Given the description of an element on the screen output the (x, y) to click on. 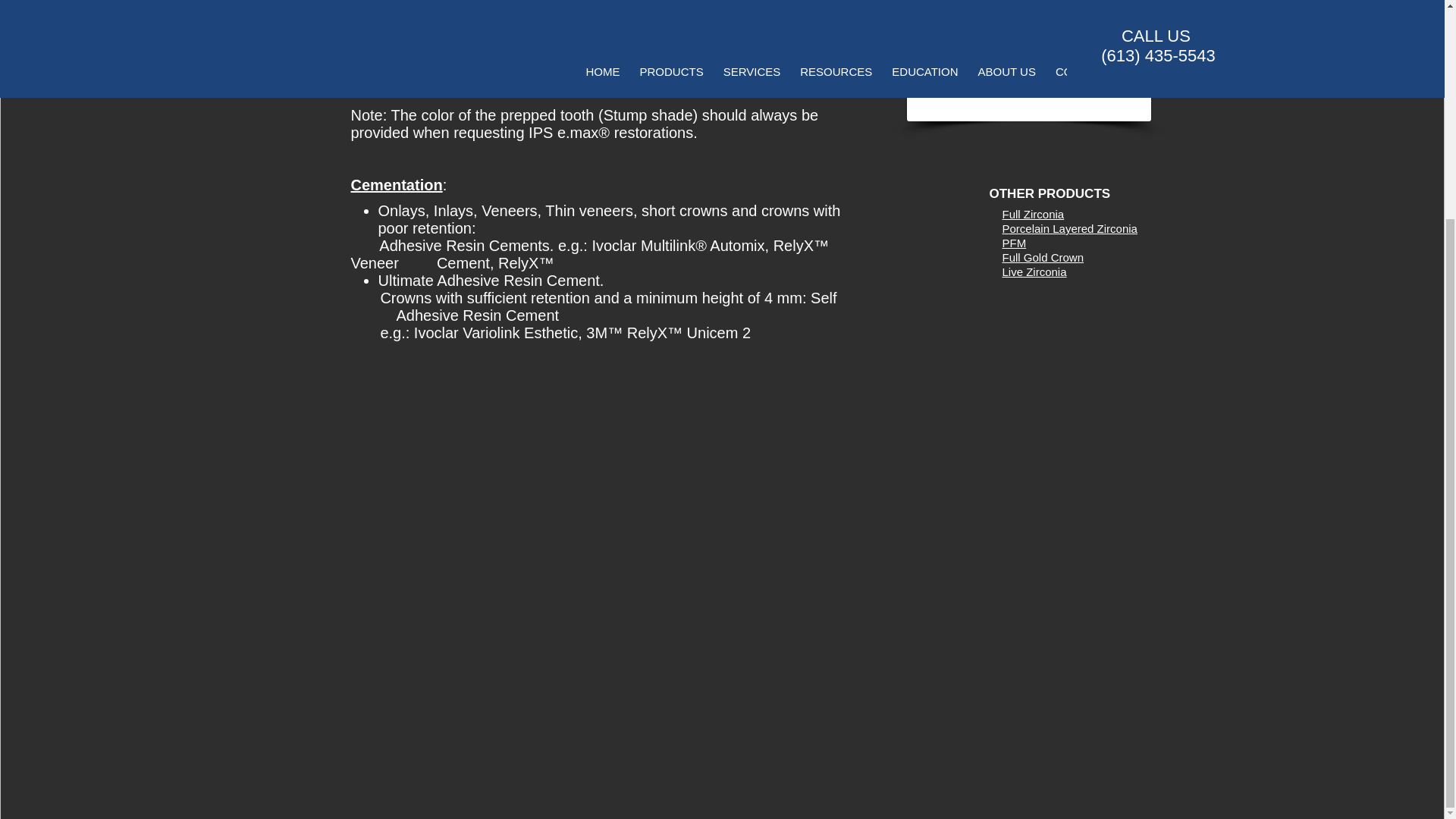
Full Gold Crown (1043, 256)
PFM (1014, 242)
Porcelain Layered Zirconia (1070, 228)
Full Zirconia (1033, 214)
Live Zirconia (1035, 271)
